Given the description of an element on the screen output the (x, y) to click on. 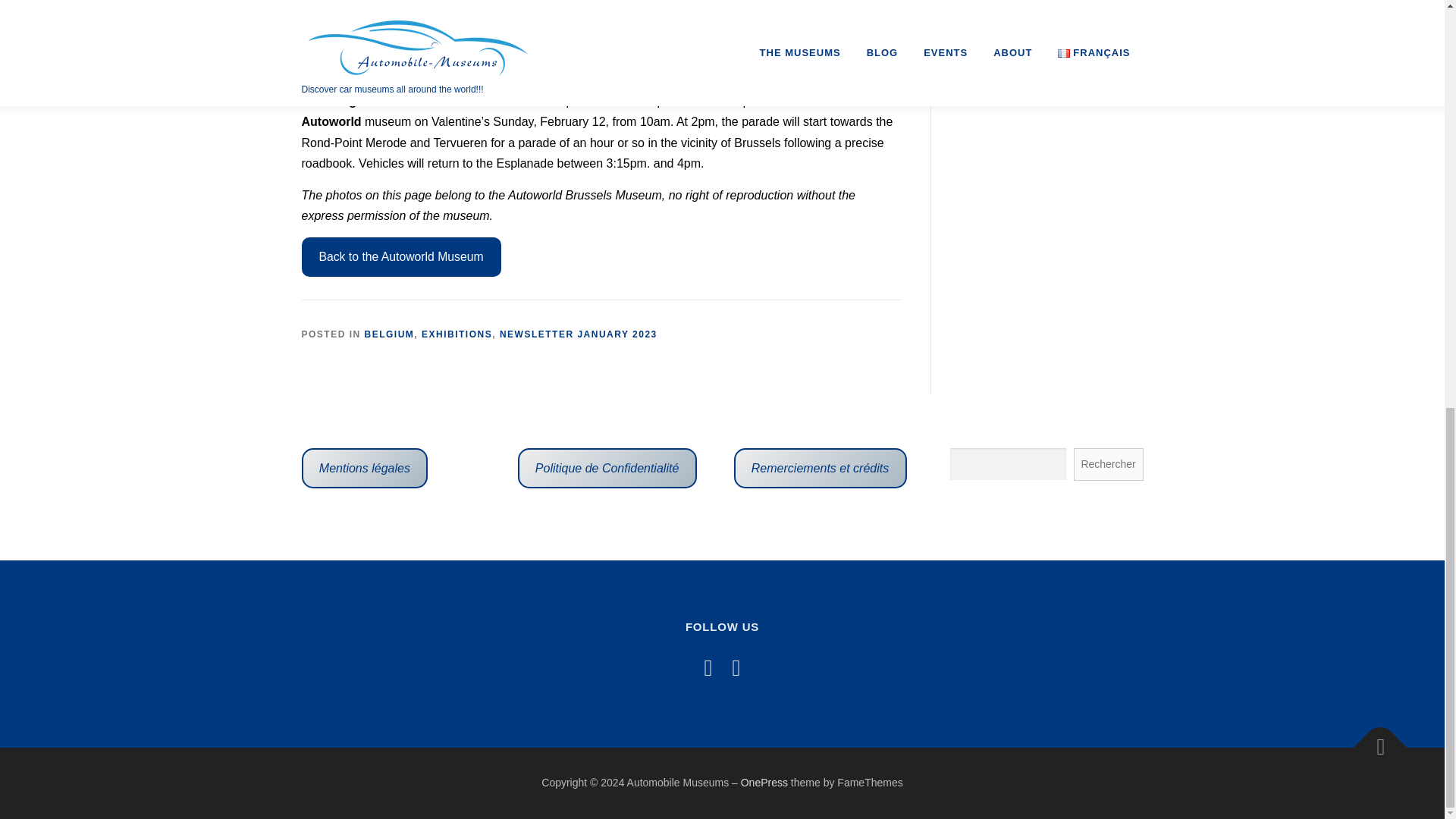
Rechercher (1108, 463)
NEWSLETTER JANUARY 2023 (578, 334)
EXHIBITIONS (457, 334)
OnePress (764, 782)
BELGIUM (389, 334)
Back To Top (1372, 740)
Back to the Autoworld Museum (400, 256)
